Given the description of an element on the screen output the (x, y) to click on. 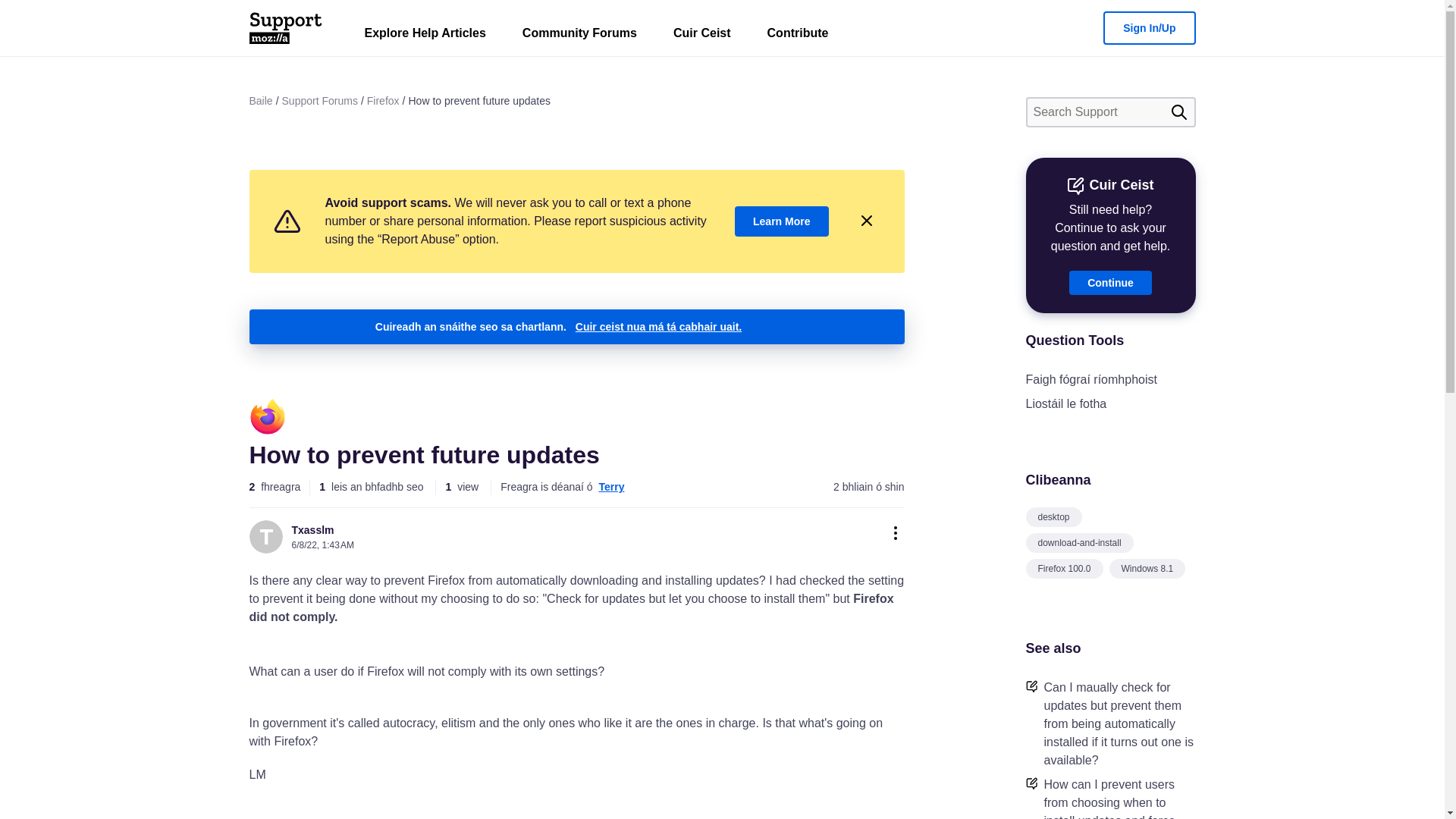
Cuir Ceist (702, 37)
Explore Help Articles (424, 37)
Cuardaigh (1178, 111)
Community Forums (579, 37)
